Given the description of an element on the screen output the (x, y) to click on. 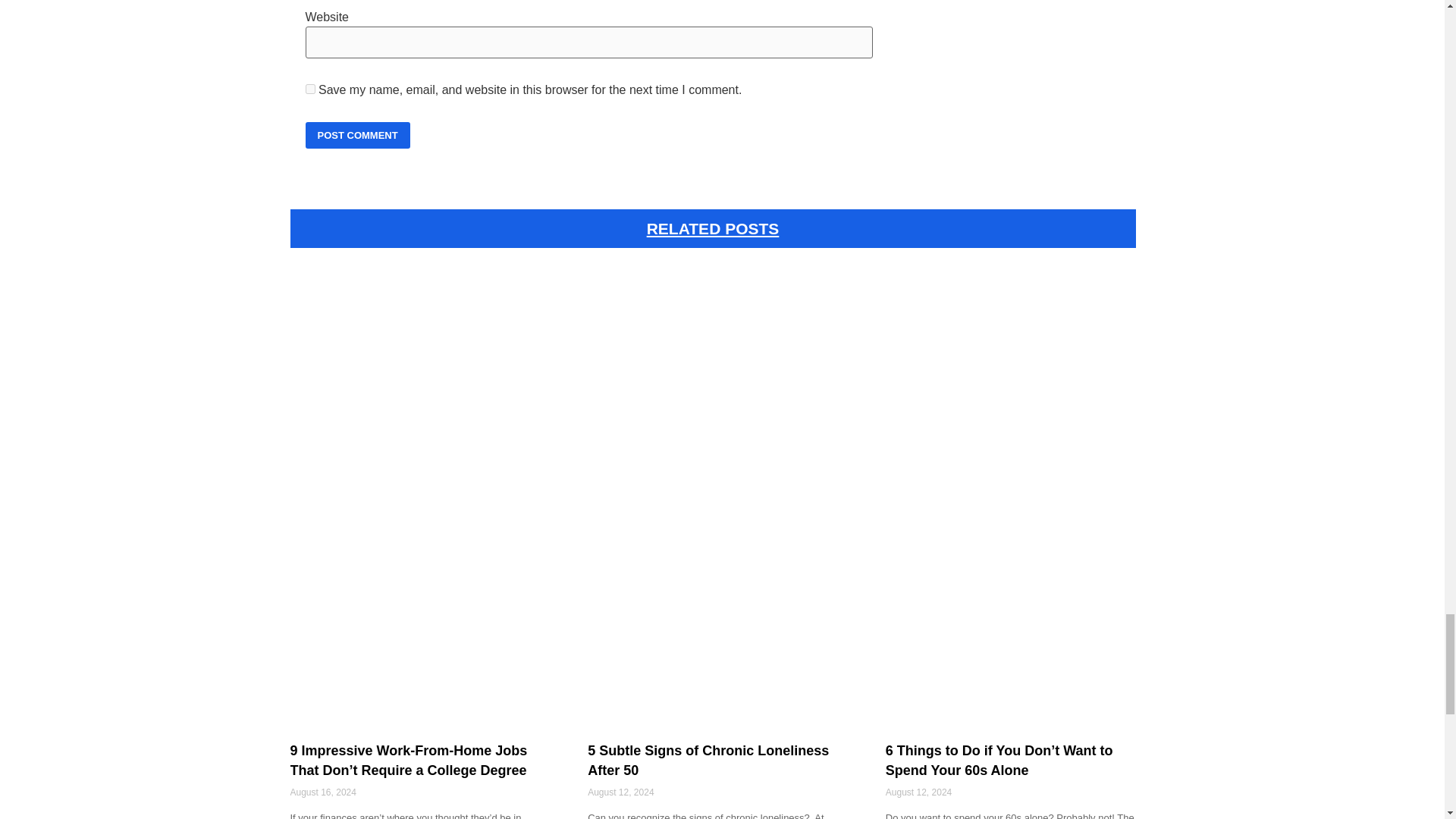
yes (309, 89)
5 Subtle Signs of Chronic Loneliness After 50 (708, 760)
Post Comment (356, 135)
Post Comment (356, 135)
